Given the description of an element on the screen output the (x, y) to click on. 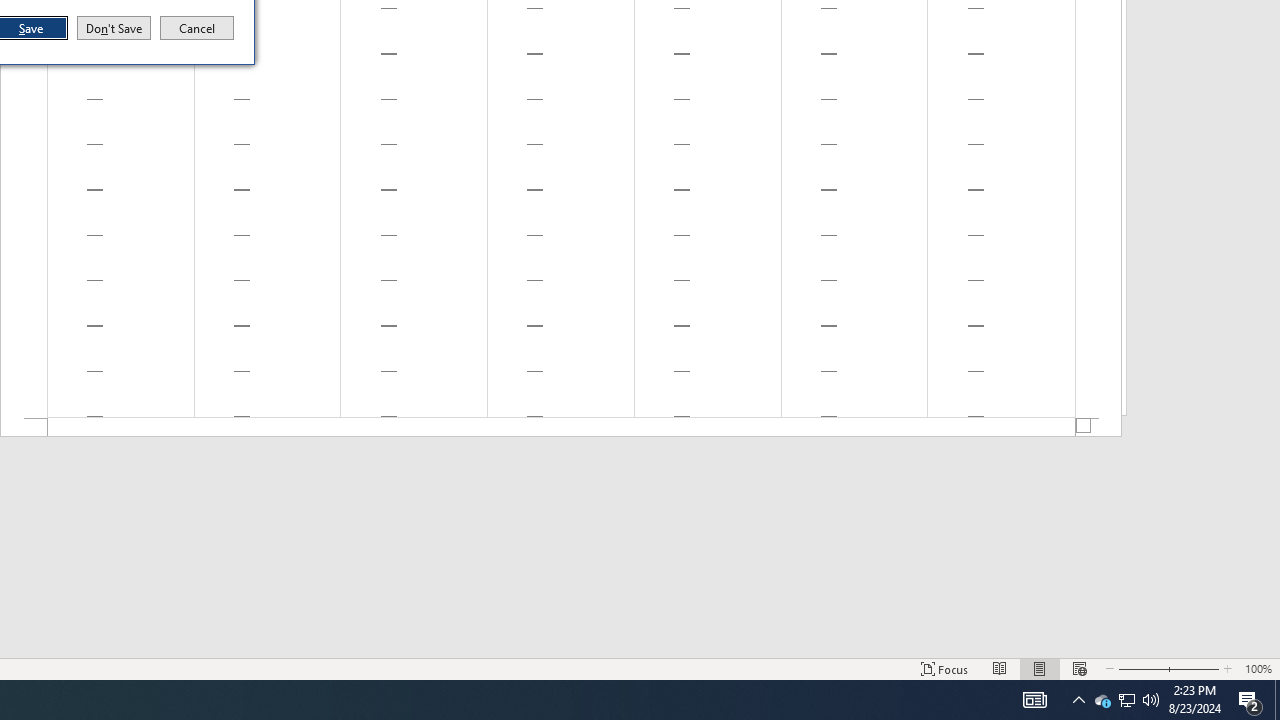
Q2790: 100% (1151, 699)
User Promoted Notification Area (1126, 699)
Cancel (197, 27)
Don't Save (1102, 699)
Footer -Section 1- (113, 27)
Show desktop (1126, 699)
